Given the description of an element on the screen output the (x, y) to click on. 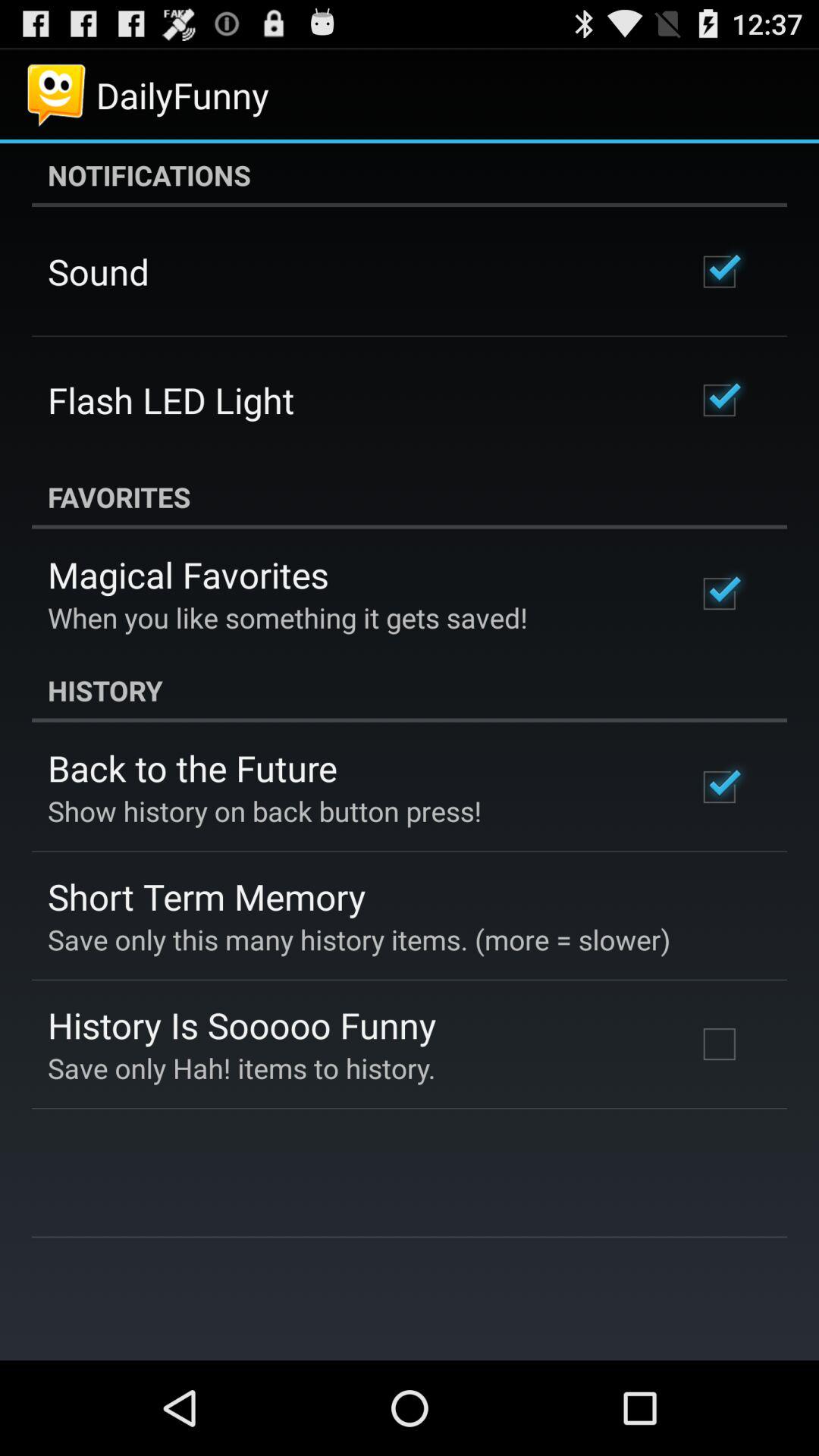
tap app at the top (409, 175)
